Given the description of an element on the screen output the (x, y) to click on. 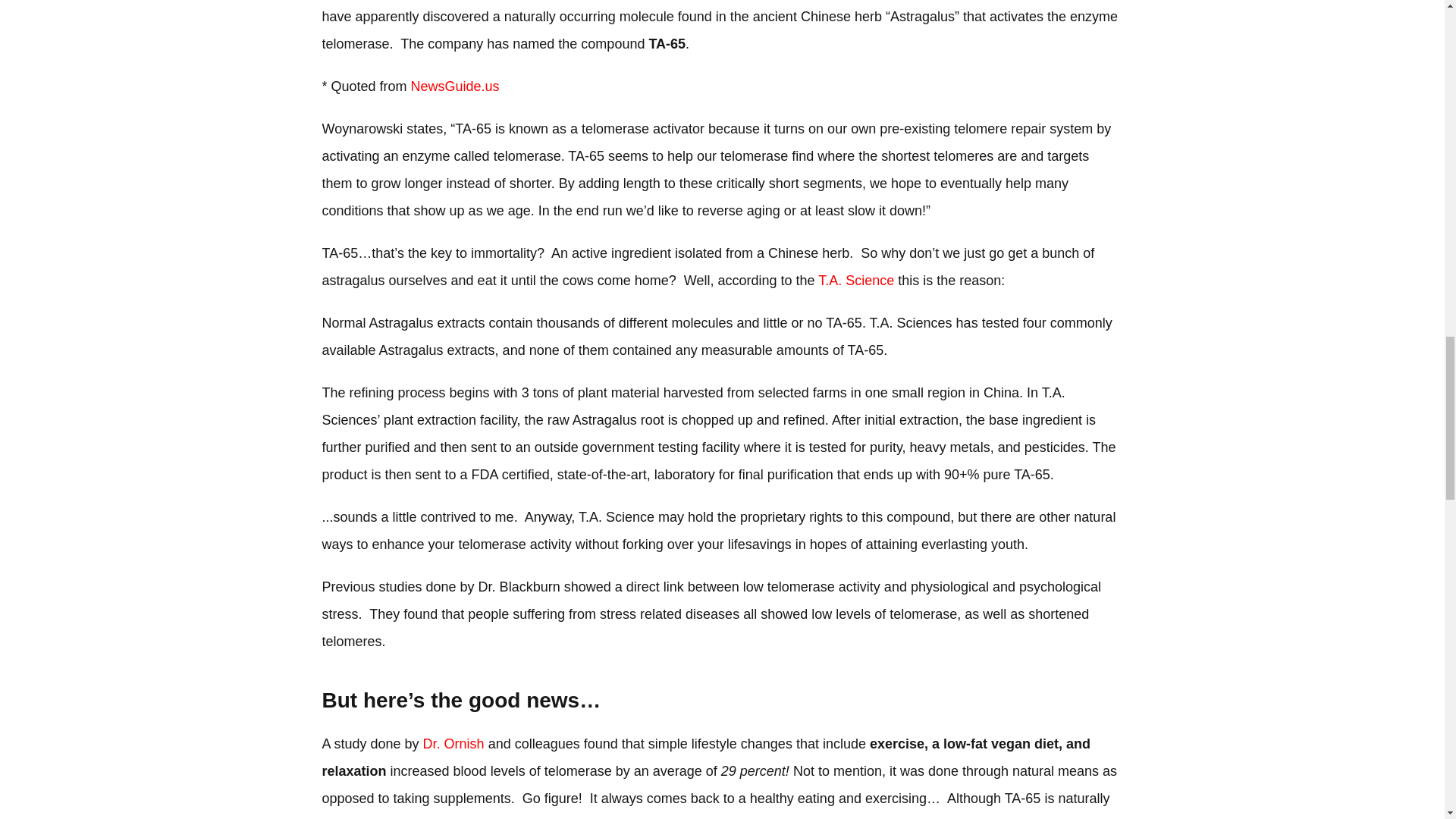
NewsGuide.us (454, 86)
T.A. Science (855, 280)
Dr. Ornish (453, 743)
